Given the description of an element on the screen output the (x, y) to click on. 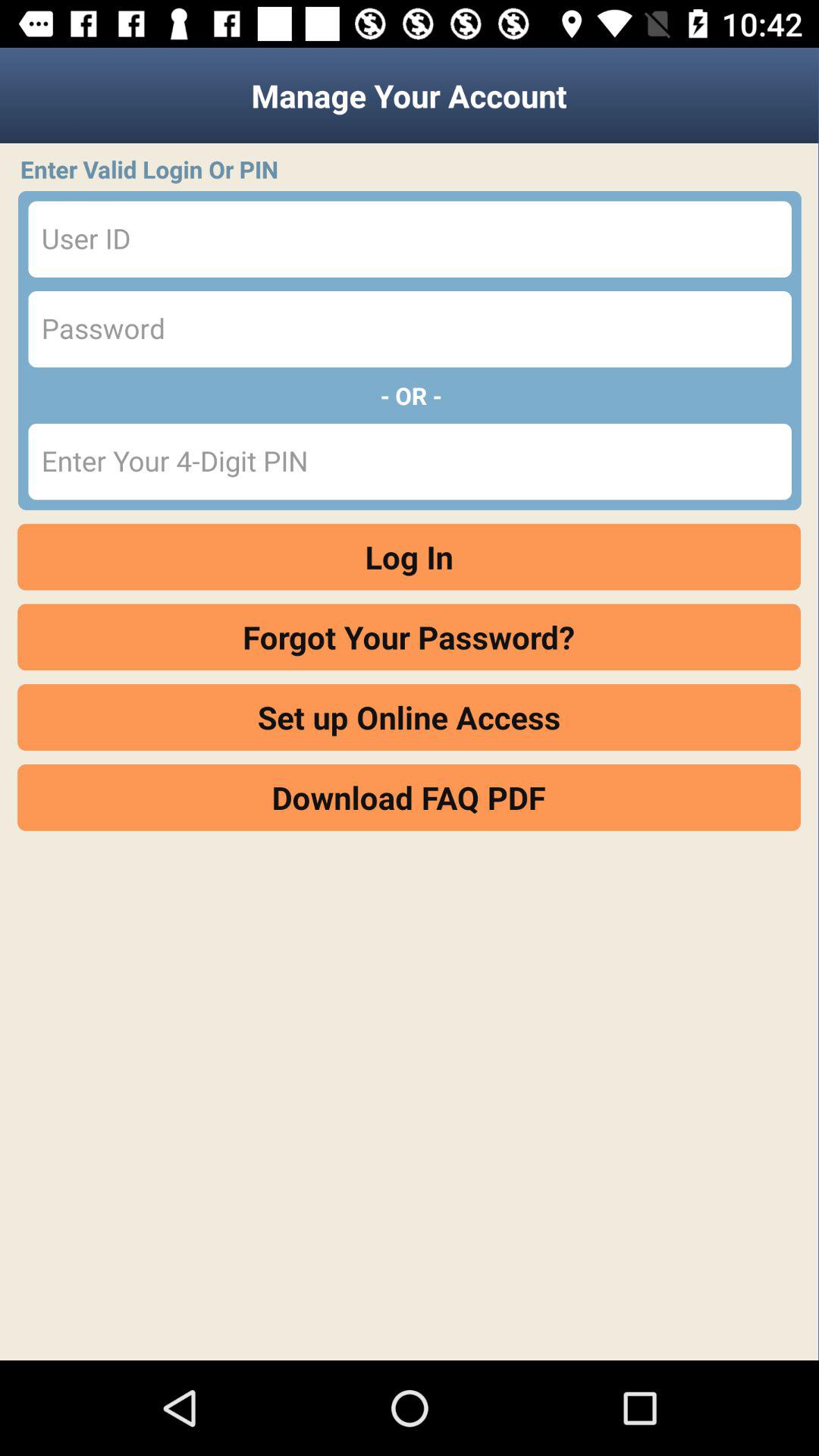
tap download faq pdf (408, 797)
